Given the description of an element on the screen output the (x, y) to click on. 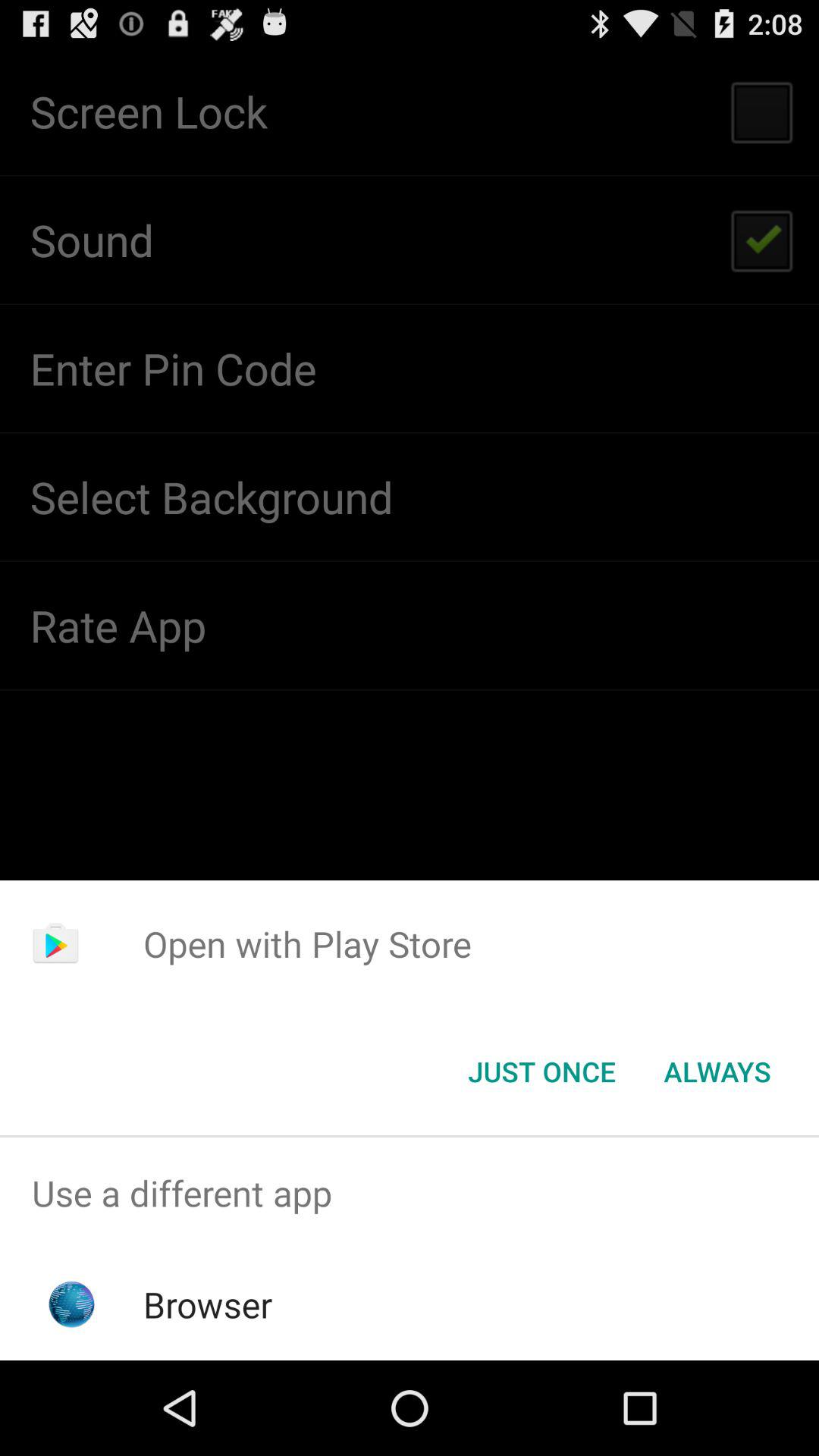
tap the button to the right of the just once (717, 1071)
